Given the description of an element on the screen output the (x, y) to click on. 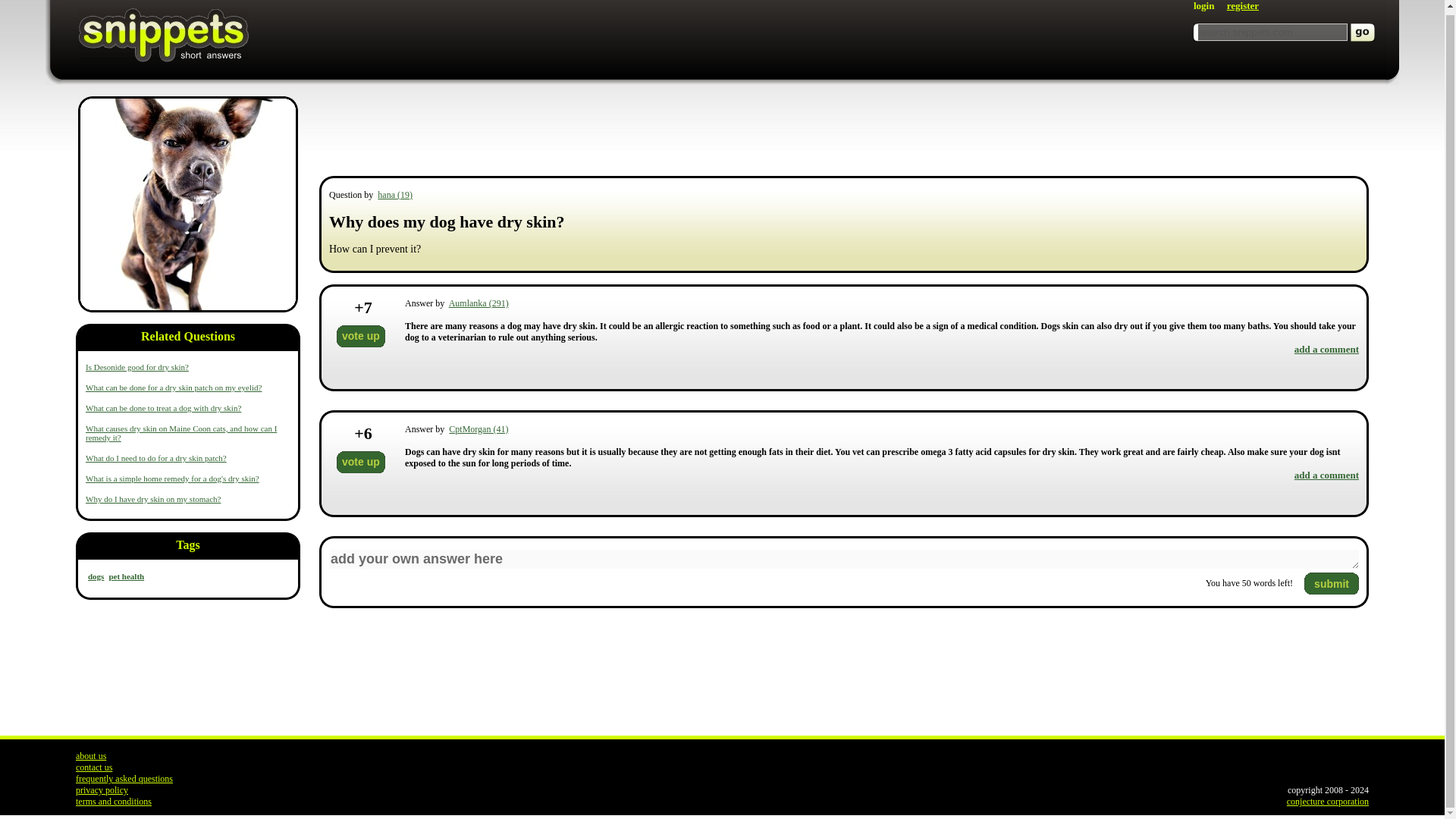
search snippets.com (1273, 31)
What do I need to do for a dry skin patch? (156, 457)
register (1243, 5)
add a comment (1326, 348)
What can be done to treat a dog with dry skin? (163, 407)
Tags (187, 548)
submit (1331, 583)
contact us (93, 767)
conjecture corporation (1327, 801)
terms and conditions (113, 801)
